Given the description of an element on the screen output the (x, y) to click on. 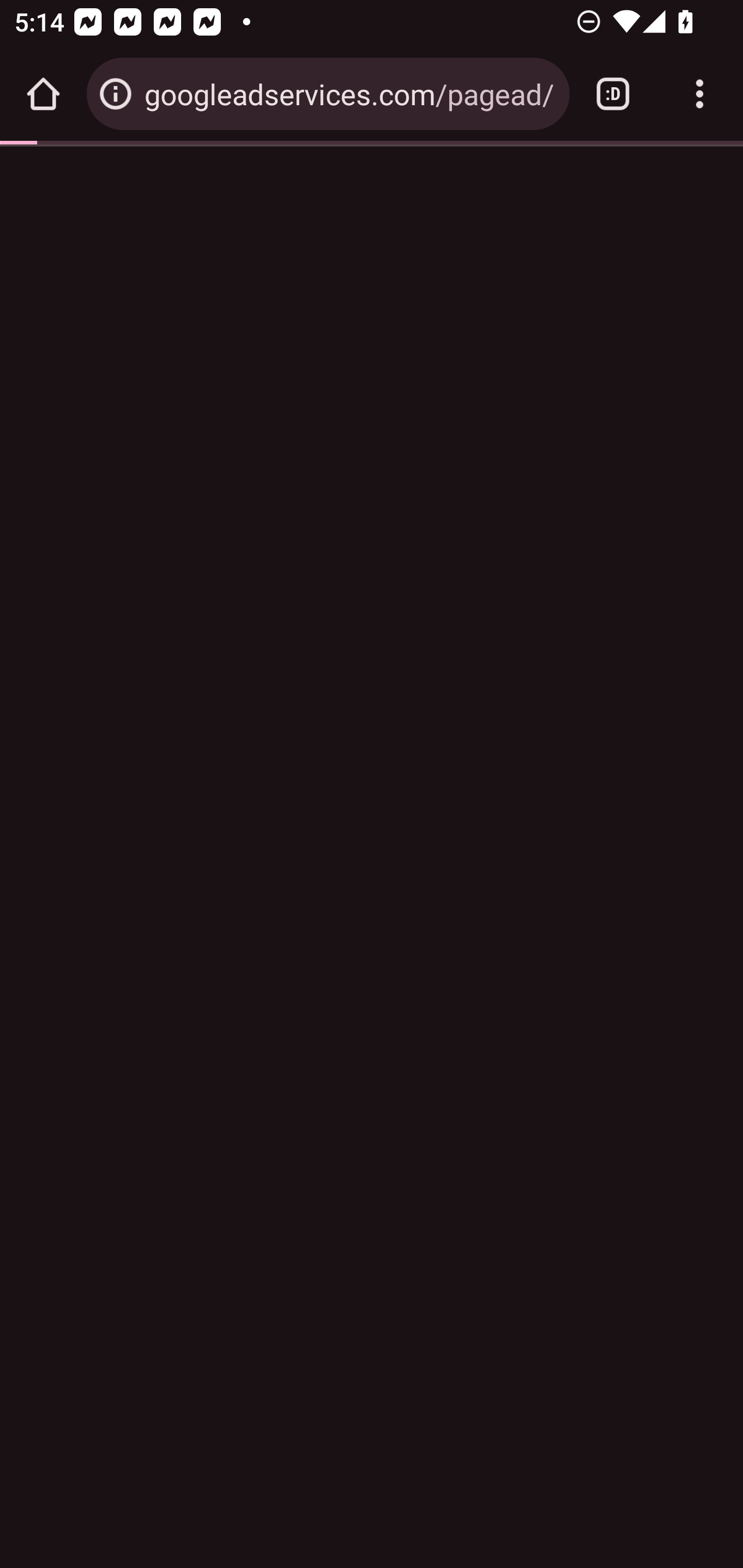
Open the home page (43, 93)
Your connection to this site is not secure (115, 93)
Switch or close tabs (612, 93)
Customize and control Google Chrome (699, 93)
